Given the description of an element on the screen output the (x, y) to click on. 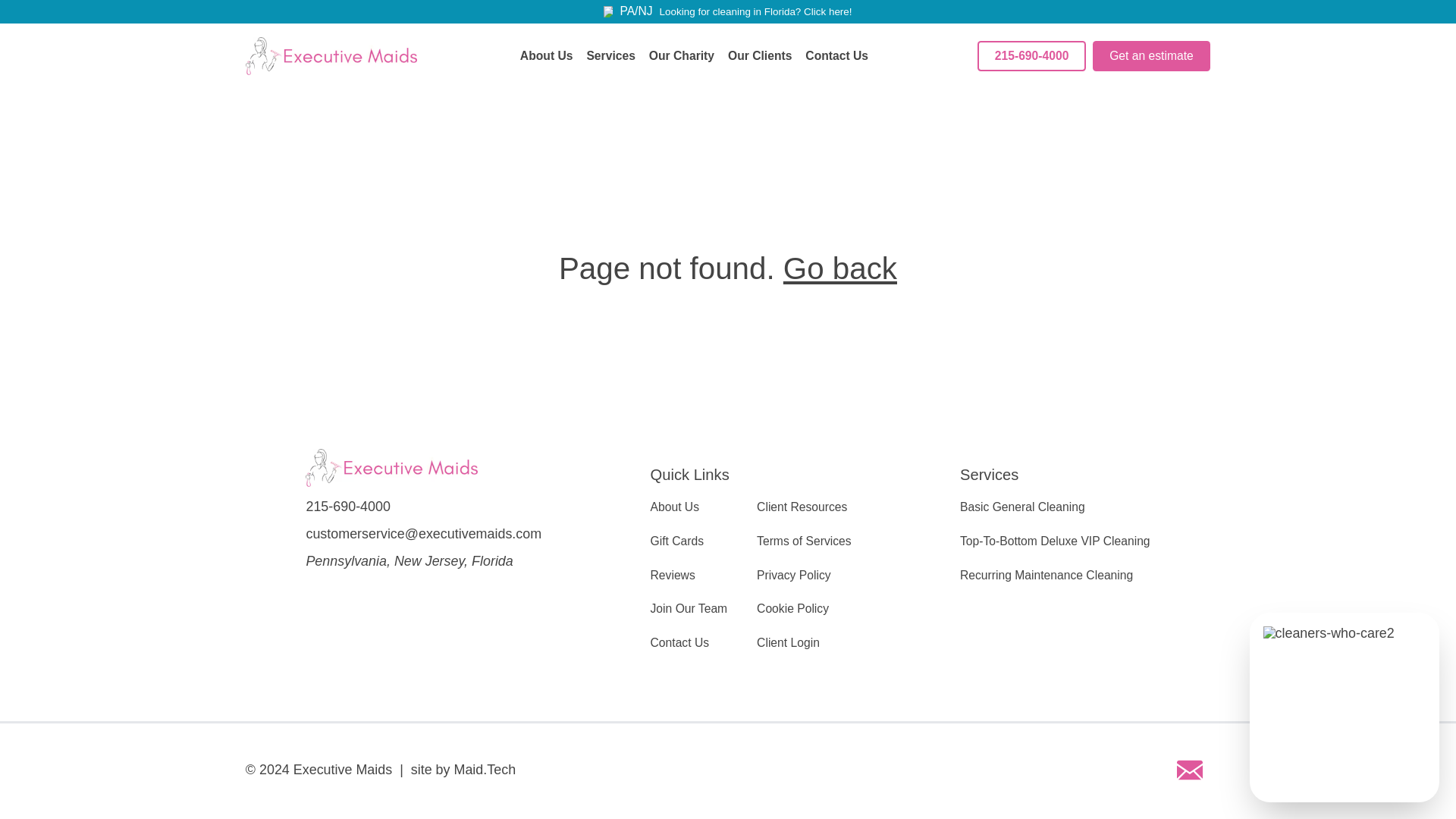
Cookie Policy (792, 608)
About Us (674, 506)
Basic General Cleaning (1021, 506)
Client Login (788, 642)
Join Our Team (689, 608)
Our Charity (681, 55)
Go back (839, 267)
Top-To-Bottom Deluxe VIP Cleaning (1054, 540)
Terms of Services (804, 540)
Contact Us (836, 55)
